Given the description of an element on the screen output the (x, y) to click on. 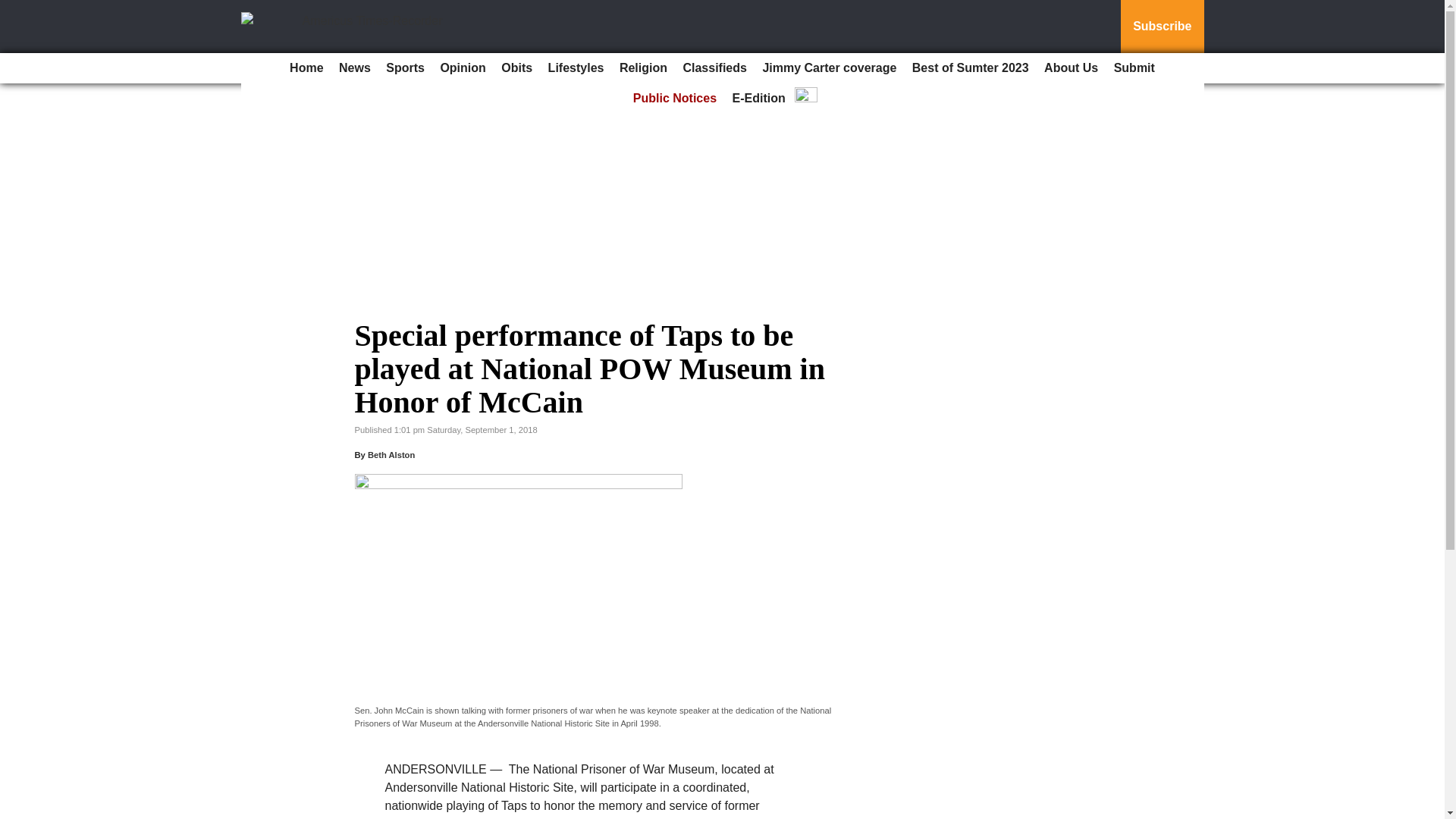
Home (306, 68)
Sports (405, 68)
Obits (516, 68)
Classifieds (714, 68)
News (355, 68)
Opinion (462, 68)
Submit (1134, 68)
Lifestyles (575, 68)
About Us (1070, 68)
E-Edition (759, 98)
